Given the description of an element on the screen output the (x, y) to click on. 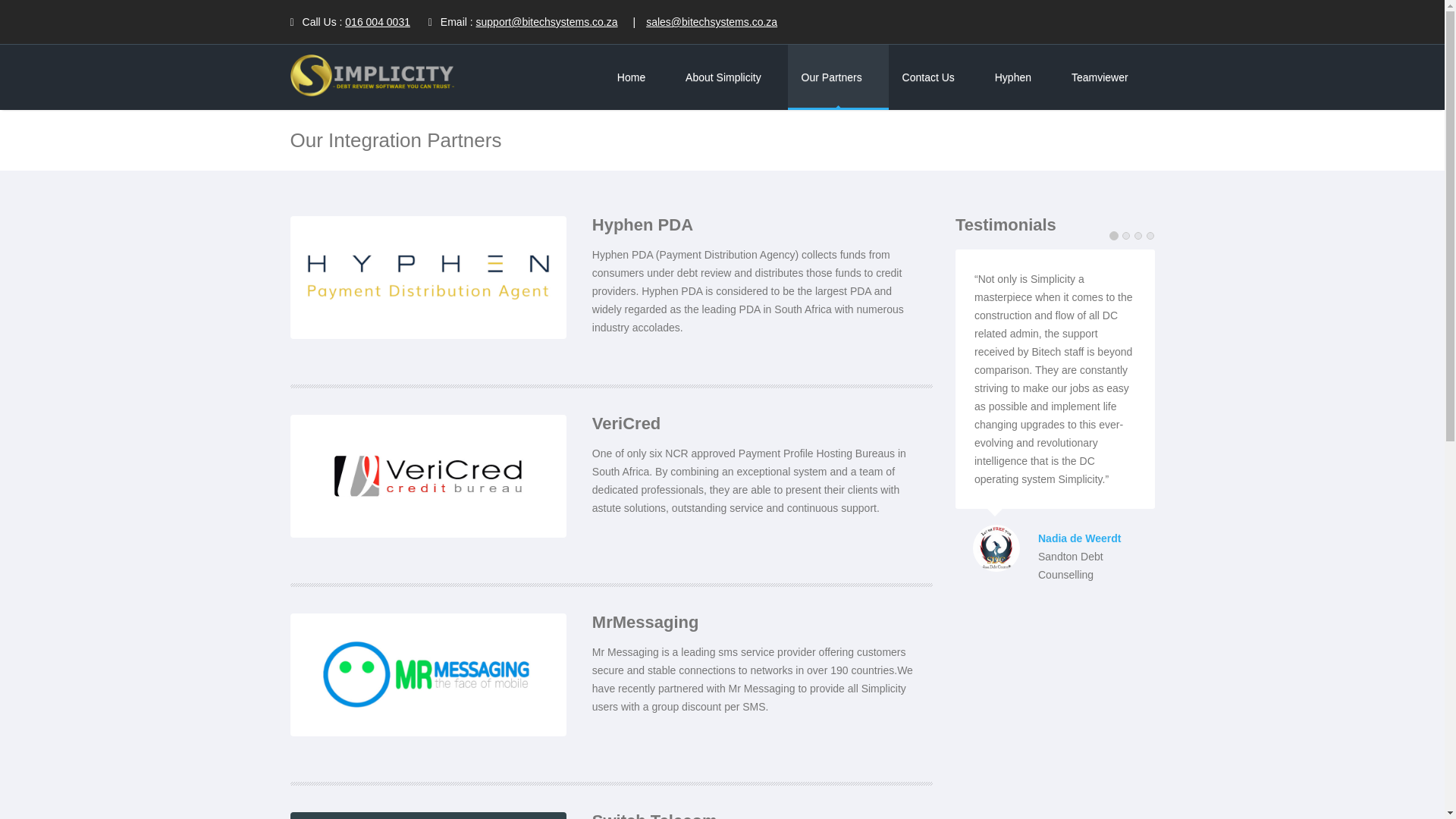
Hyphen (1019, 77)
Home (637, 77)
016 004 0031 (377, 21)
Our Partners (837, 77)
Contact Us (934, 77)
About Simplicity (729, 77)
Teamviewer (1106, 77)
Nadia de Weerdt (1096, 538)
